Given the description of an element on the screen output the (x, y) to click on. 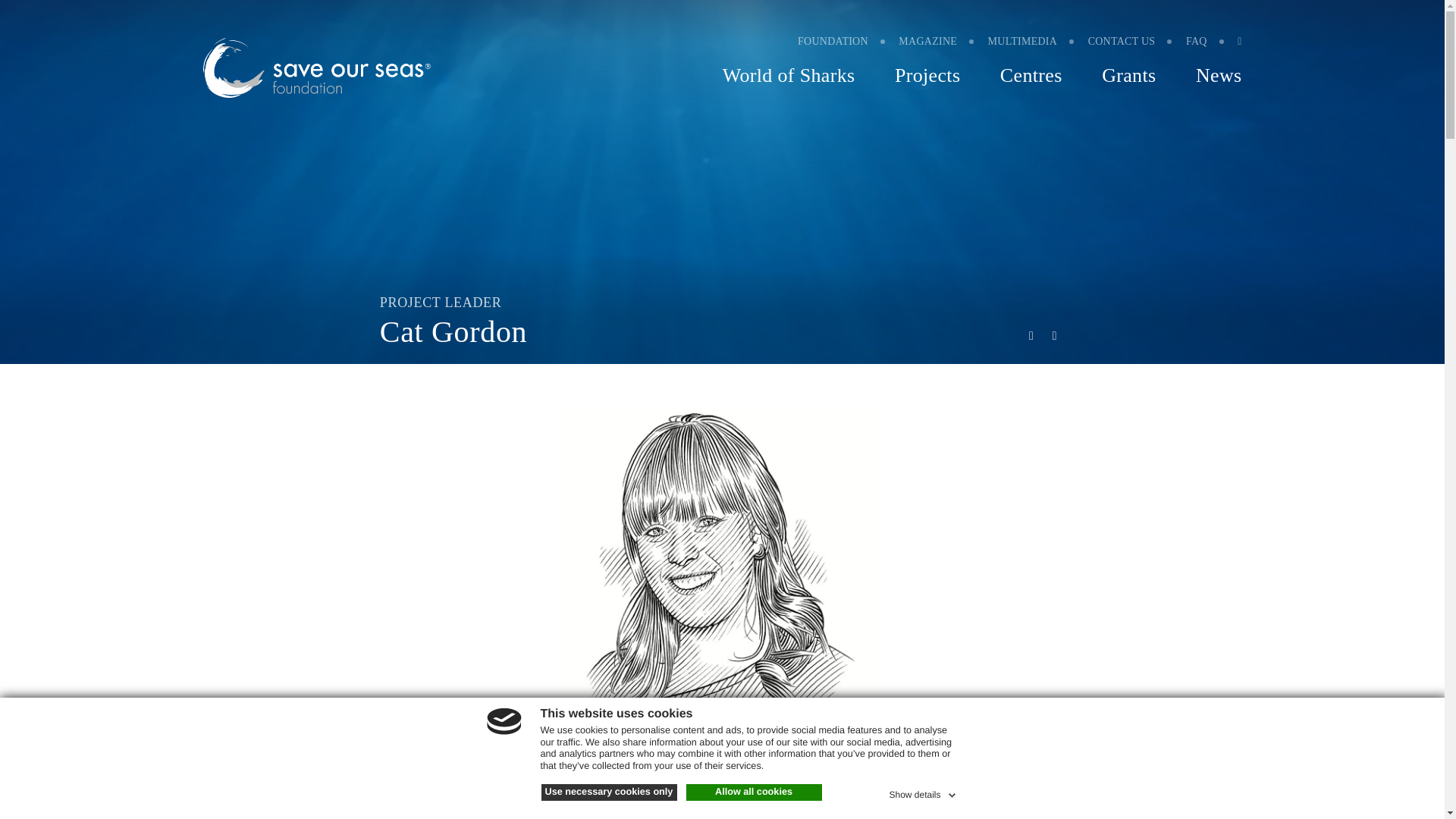
Allow all cookies (753, 791)
Show details (923, 791)
Use necessary cookies only (609, 791)
